Given the description of an element on the screen output the (x, y) to click on. 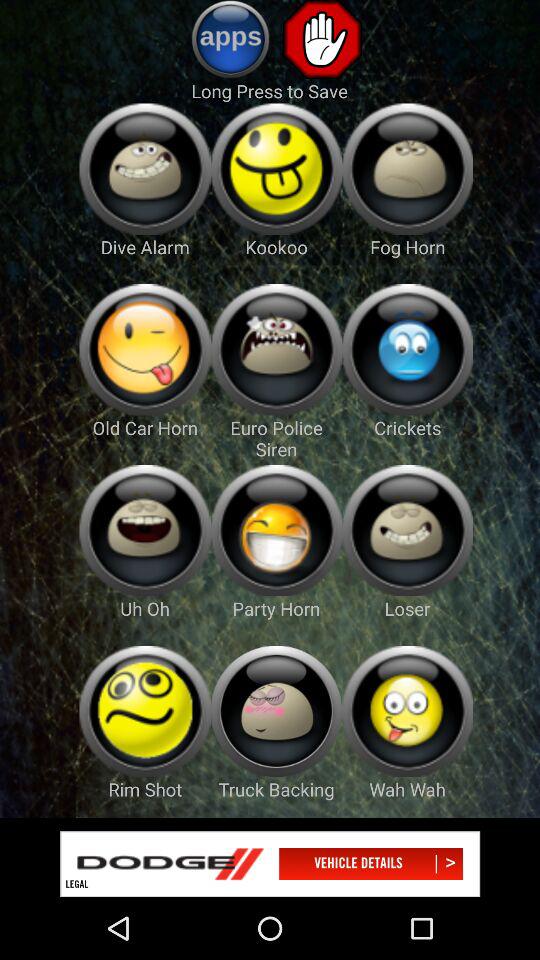
play party horn (276, 530)
